Given the description of an element on the screen output the (x, y) to click on. 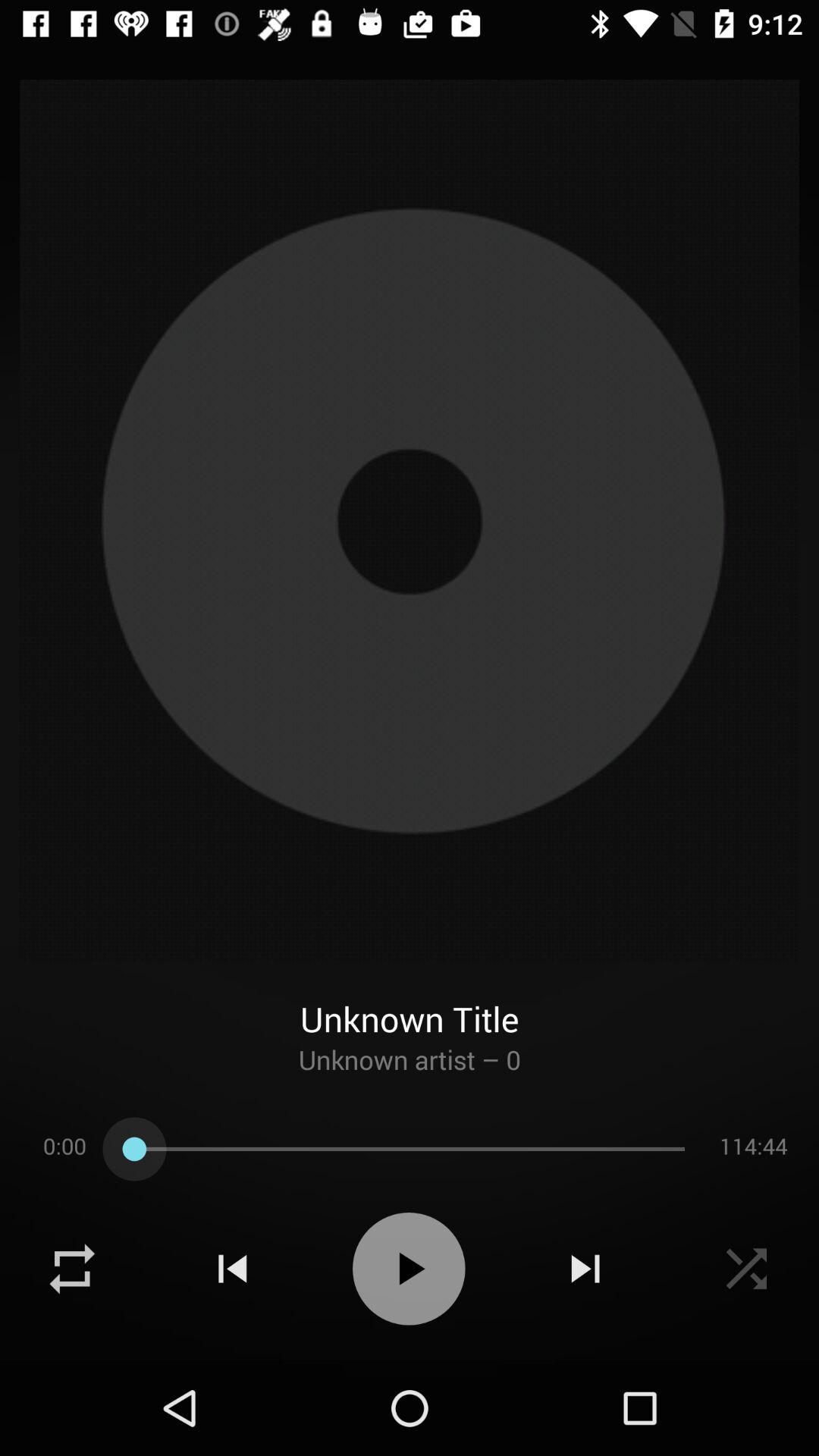
select the item above unknown title icon (409, 520)
